Given the description of an element on the screen output the (x, y) to click on. 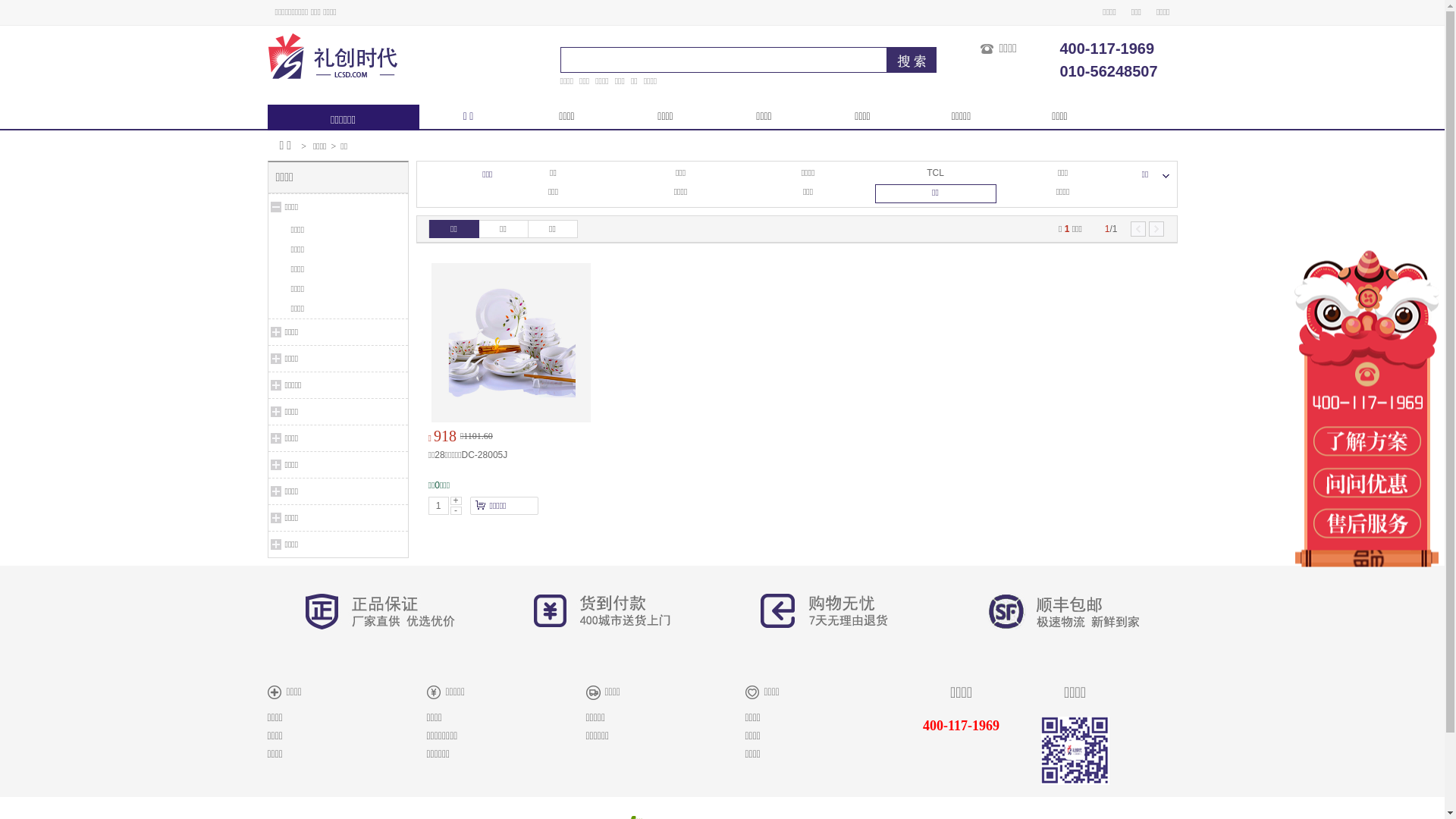
- Element type: text (455, 510)
+ Element type: text (455, 500)
TCL Element type: text (935, 172)
